Given the description of an element on the screen output the (x, y) to click on. 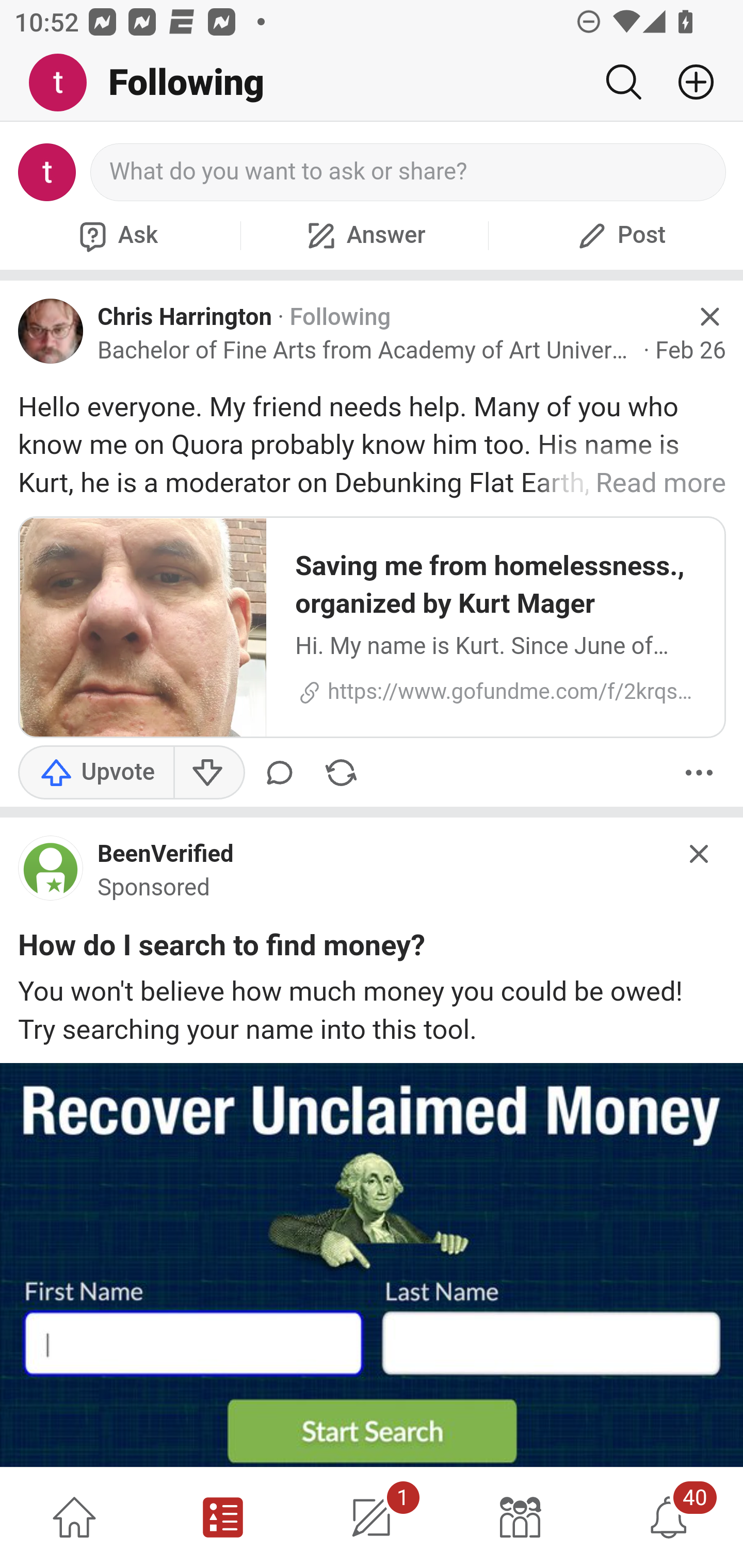
Me (64, 83)
Search (623, 82)
Add (688, 82)
What do you want to ask or share? (408, 172)
Ask (116, 234)
Answer (364, 234)
Post (618, 234)
Hide (709, 316)
Profile photo for Chris Harrington (50, 330)
Chris Harrington (184, 315)
Following (340, 316)
Upvote (95, 772)
Downvote (208, 772)
Comment (283, 772)
Share (341, 772)
More (699, 772)
Hide (699, 853)
main-qimg-afc4973c94a1781f59eb5c2be352d562 (50, 873)
BeenVerified (165, 855)
Sponsored (154, 888)
How do I search to find money? (221, 948)
1 (371, 1517)
40 (668, 1517)
